Given the description of an element on the screen output the (x, y) to click on. 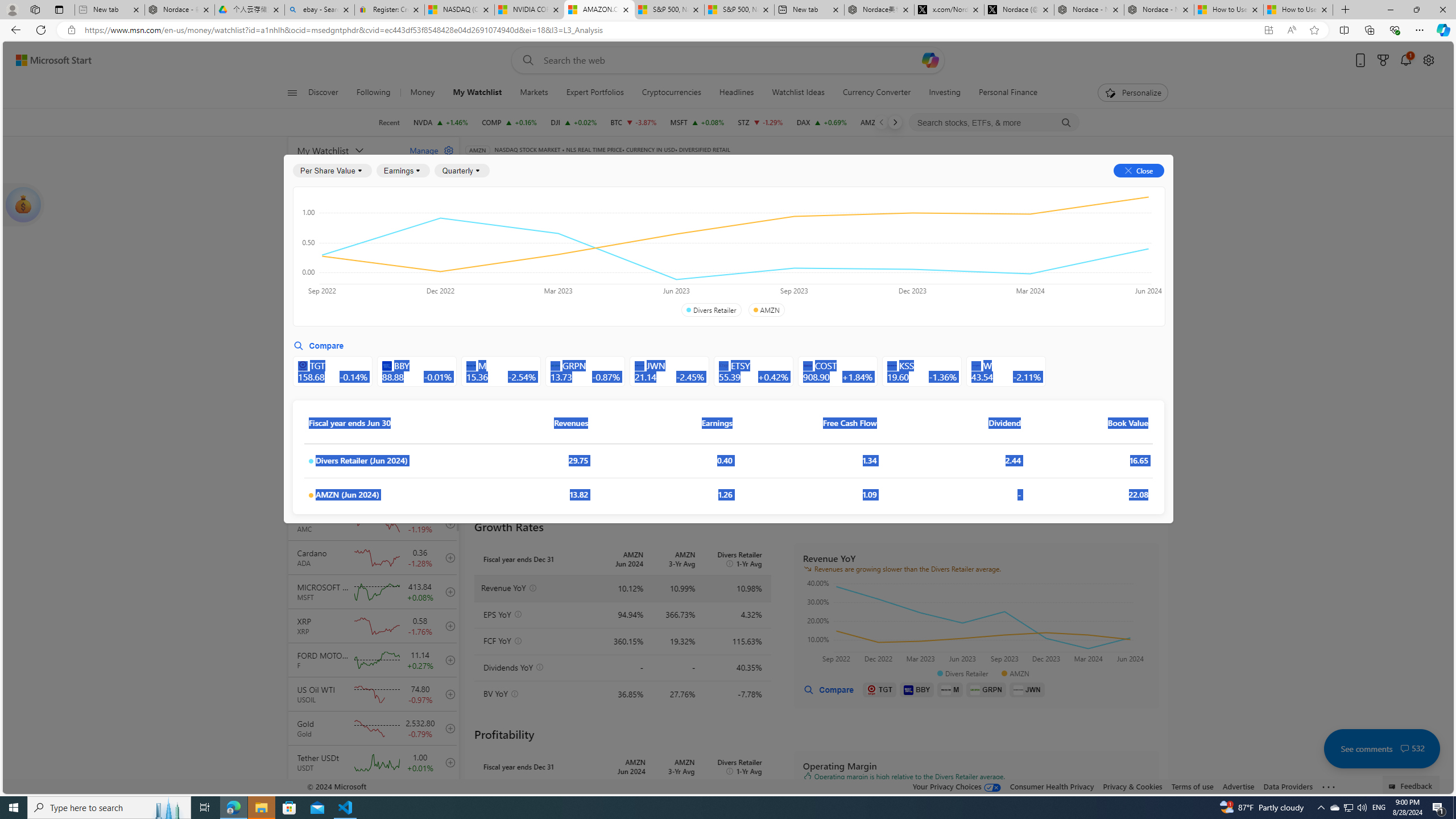
COMP NASDAQ increase 17,754.82 +29.06 +0.16% (509, 122)
Advertise (1238, 785)
Income Statement (550, 223)
Valuation (714, 253)
Class: imagIcon-DS-EntryPoint1-1 (1018, 689)
Efficiency (850, 253)
Markets (534, 92)
Options (1123, 188)
Divers Retailer (711, 310)
